Given the description of an element on the screen output the (x, y) to click on. 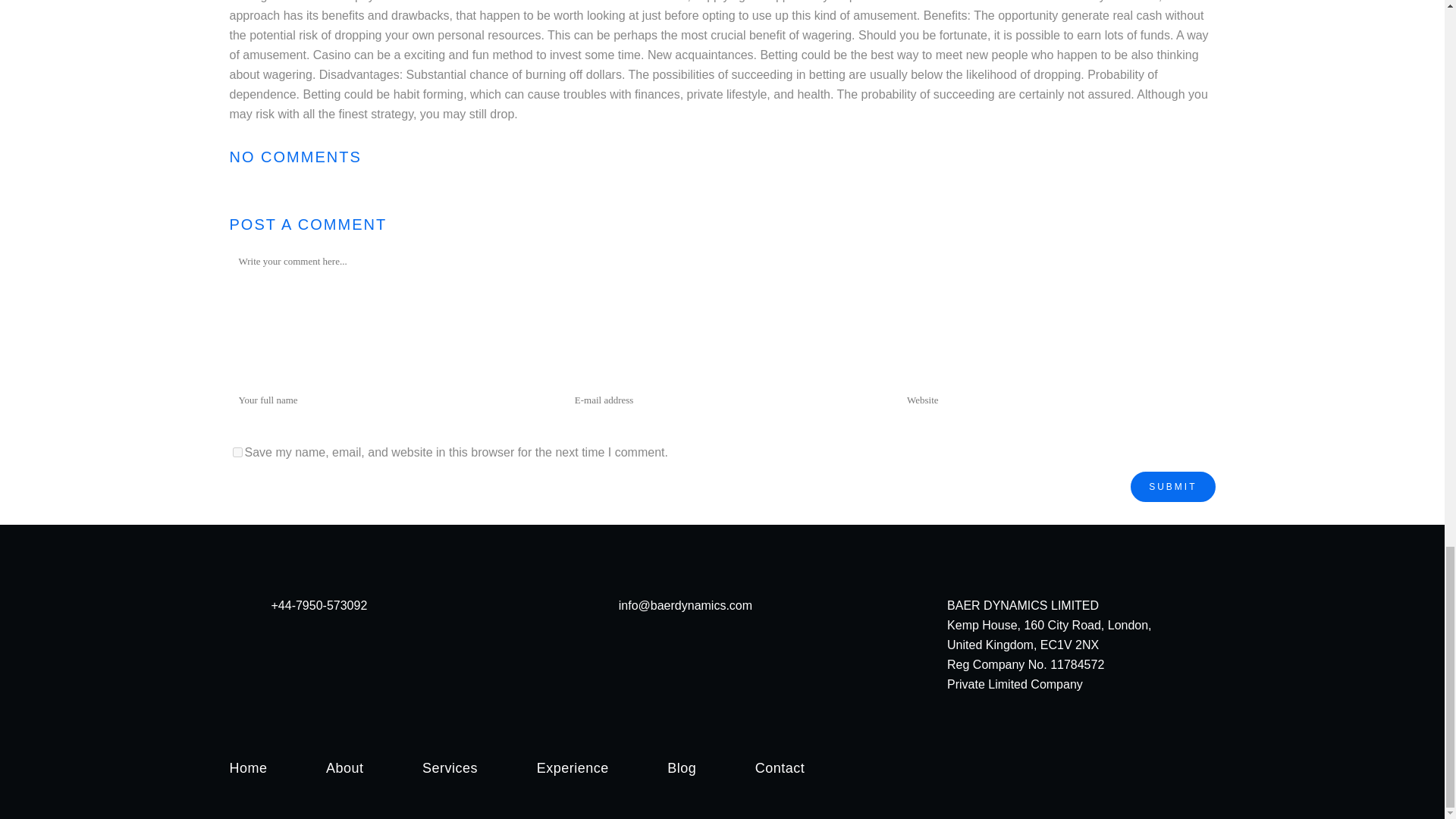
Blog (680, 767)
Home (247, 767)
Contact (780, 767)
Services (449, 767)
yes (236, 452)
Submit (1172, 486)
Experience (572, 767)
About (345, 767)
Submit (1172, 486)
